Given the description of an element on the screen output the (x, y) to click on. 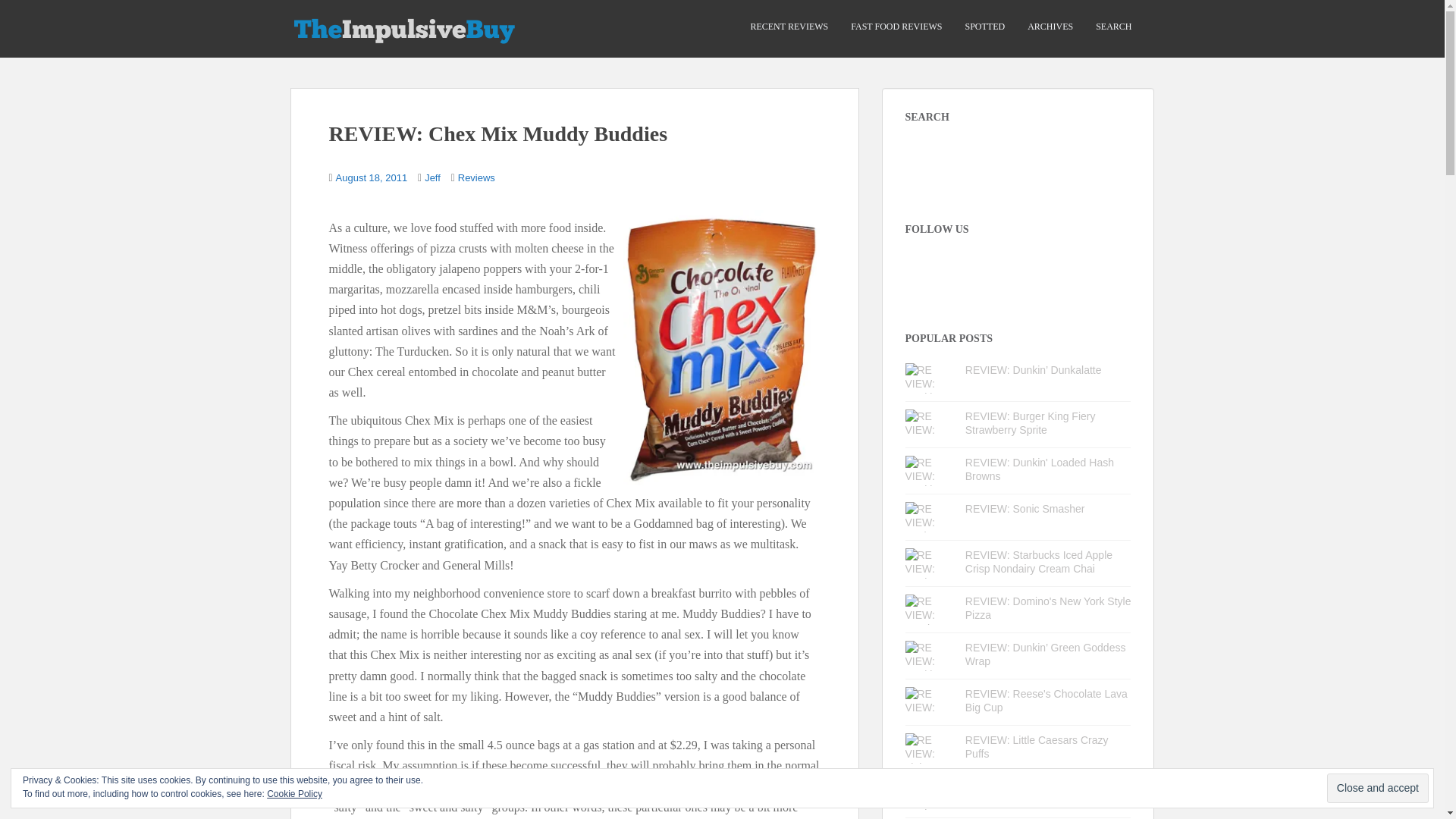
Jeff (433, 177)
FAST FOOD REVIEWS (896, 26)
ARCHIVES (1050, 26)
SPOTTED (983, 26)
RECENT REVIEWS (788, 26)
REVIEW: Dunkin' Loaded Hash Browns (1039, 469)
SEARCH (1113, 26)
Close and accept (1377, 788)
REVIEW: Burger King Fiery Strawberry Sprite (1030, 422)
Reviews (476, 177)
